Given the description of an element on the screen output the (x, y) to click on. 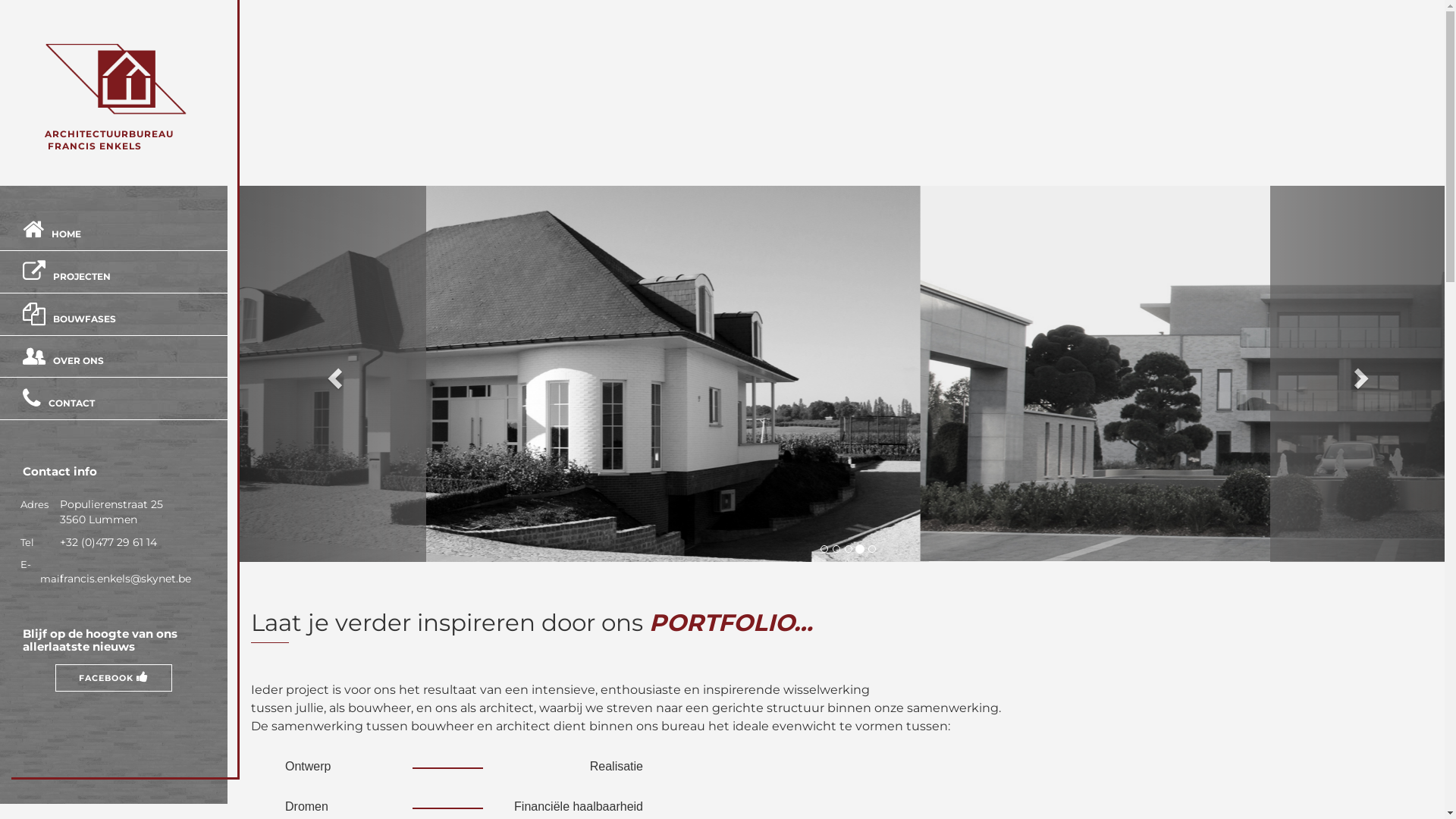
PROJECTEN Element type: text (81, 276)
FACEBOOK Element type: text (113, 677)
BOUWFASES Element type: text (84, 318)
francis.enkels@skynet.be Element type: text (122, 578)
Populierenstraat 25
3560 Lummen Element type: text (108, 511)
CONTACT Element type: text (71, 402)
OVER ONS Element type: text (78, 360)
+32 (0)477 29 61 14 Element type: text (104, 542)
HOME Element type: text (66, 233)
